Given the description of an element on the screen output the (x, y) to click on. 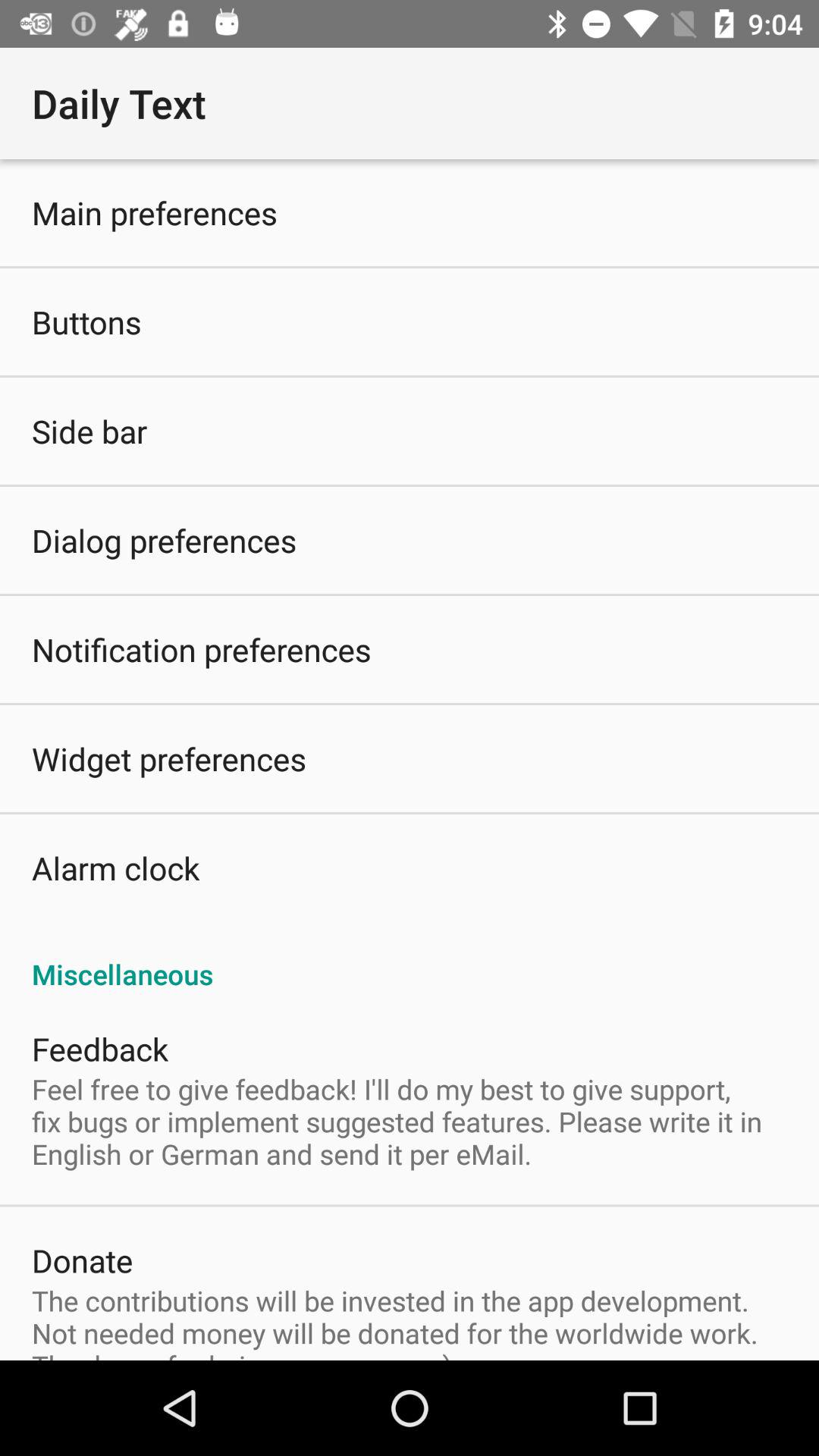
turn on the icon below the feel free to app (82, 1259)
